Given the description of an element on the screen output the (x, y) to click on. 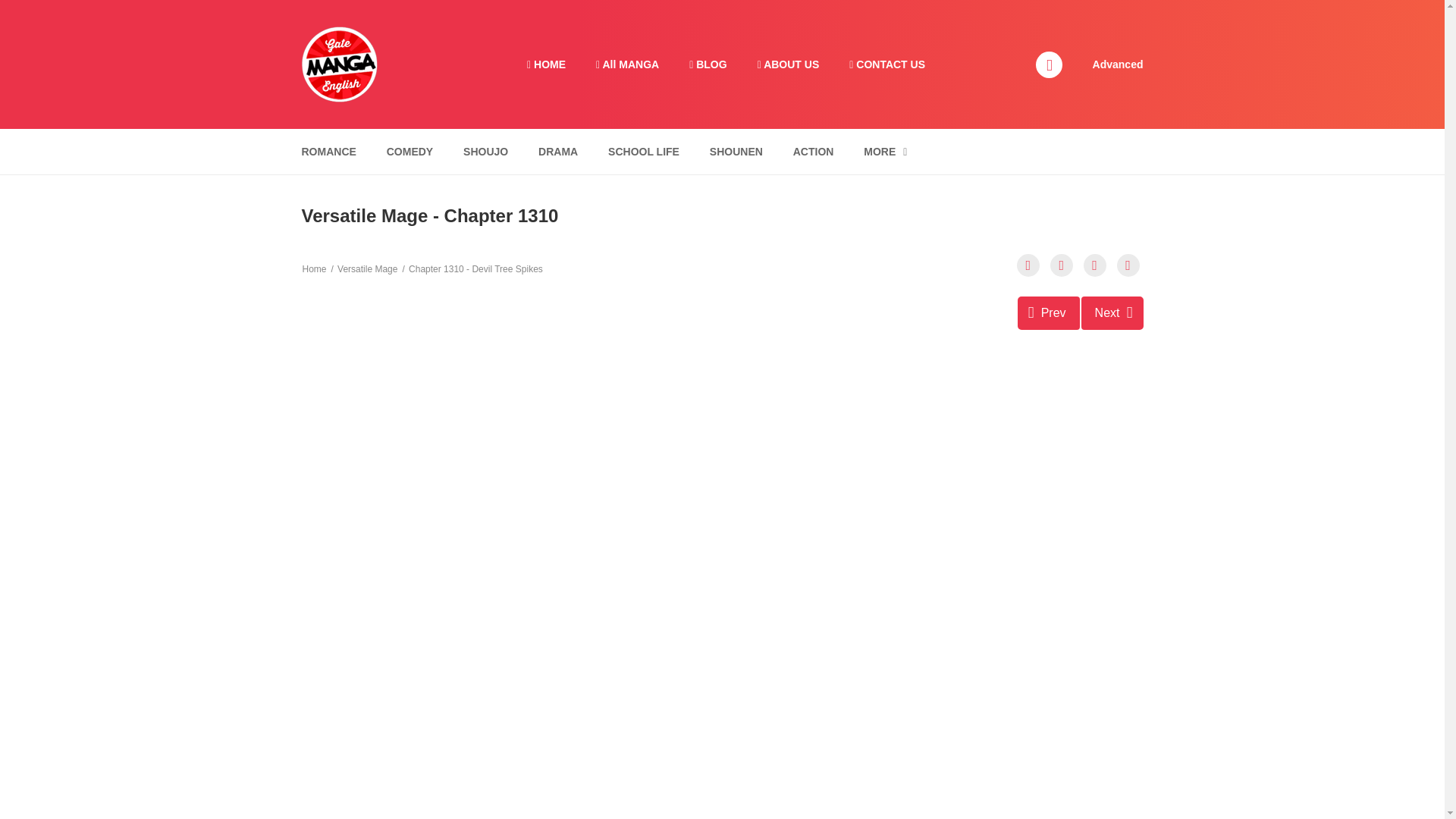
CONTACT US (887, 64)
HOME (546, 64)
Chapter 1311 (1111, 313)
Bookmark (1094, 264)
DRAMA (558, 151)
SHOUNEN (736, 151)
Search (970, 9)
ACTION (813, 151)
SHOUJO (485, 151)
SCHOOL LIFE (643, 151)
All MANGA (627, 64)
Advanced (1117, 63)
COMEDY (409, 151)
ROMANCE (328, 151)
ABOUT US (788, 64)
